Given the description of an element on the screen output the (x, y) to click on. 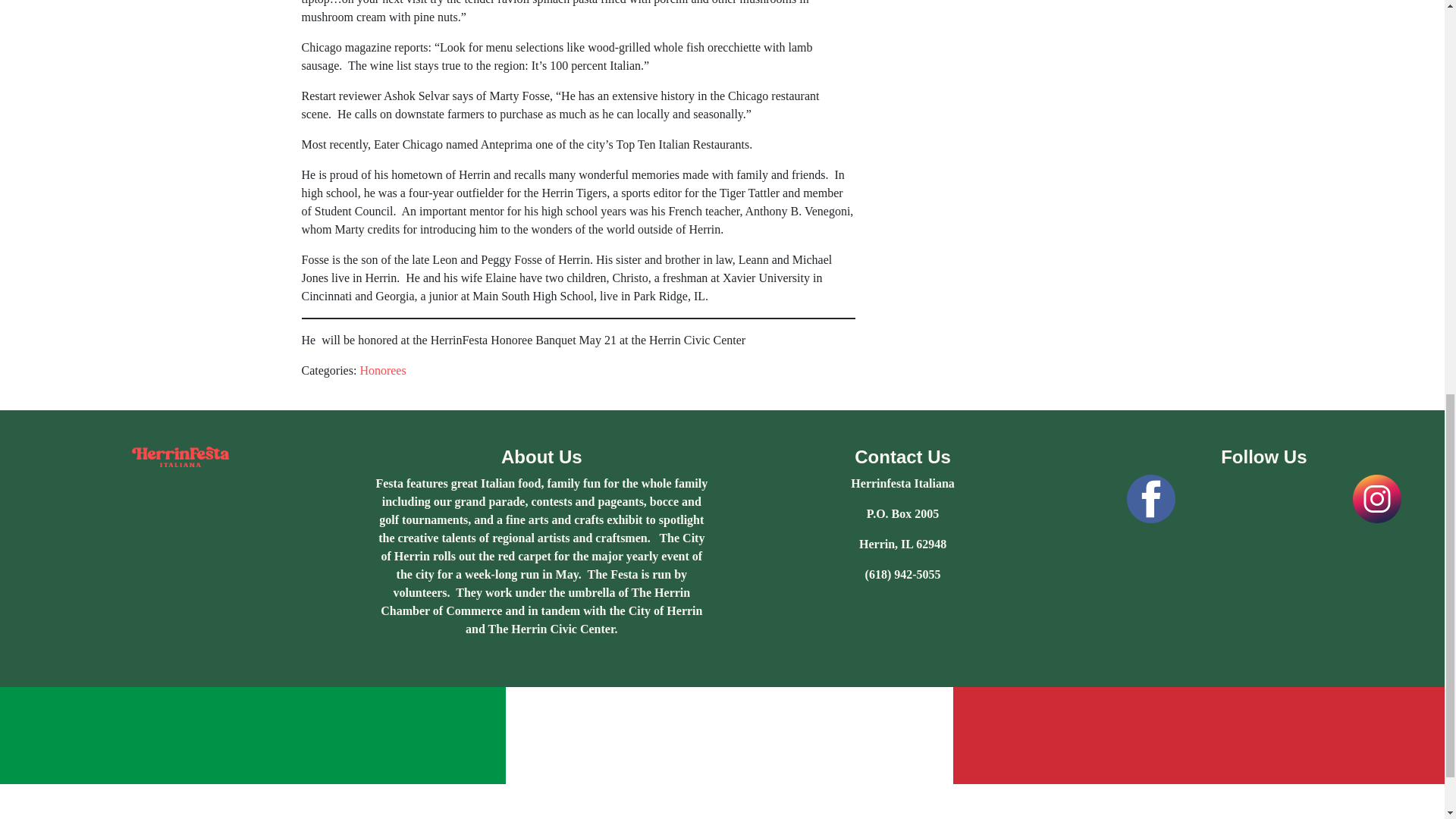
Honorees (382, 369)
